Given the description of an element on the screen output the (x, y) to click on. 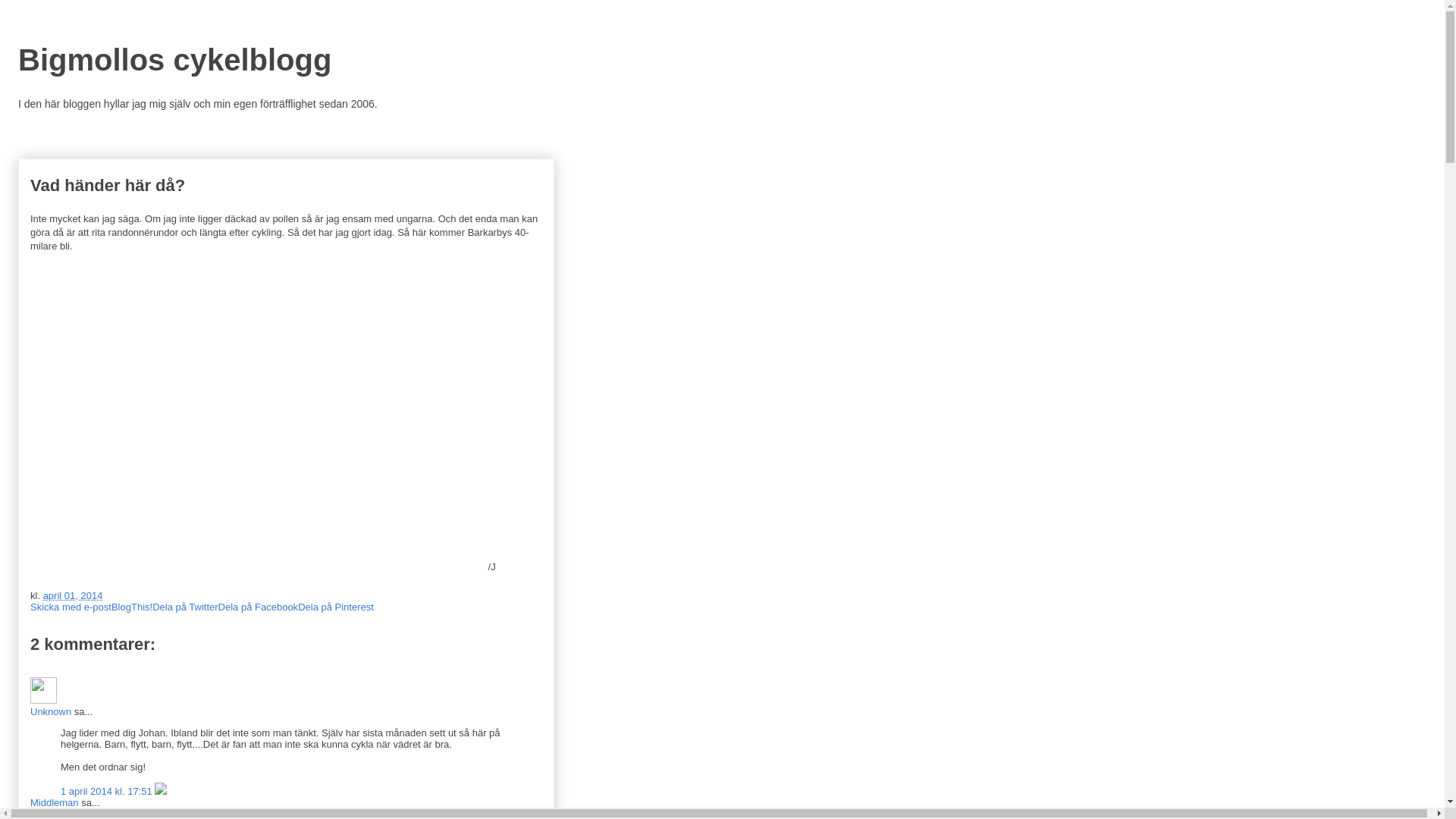
BlogThis! Element type: text (131, 606)
1 april 2014 kl. 17:51 Element type: text (107, 791)
april 01, 2014 Element type: text (73, 595)
Bigmollos cykelblogg Element type: text (174, 59)
Middleman Element type: text (54, 802)
Ta bort kommentar Element type: hover (160, 791)
Unknown Element type: text (50, 711)
Skicka med e-post Element type: text (70, 606)
Unknown Element type: hover (43, 690)
